Given the description of an element on the screen output the (x, y) to click on. 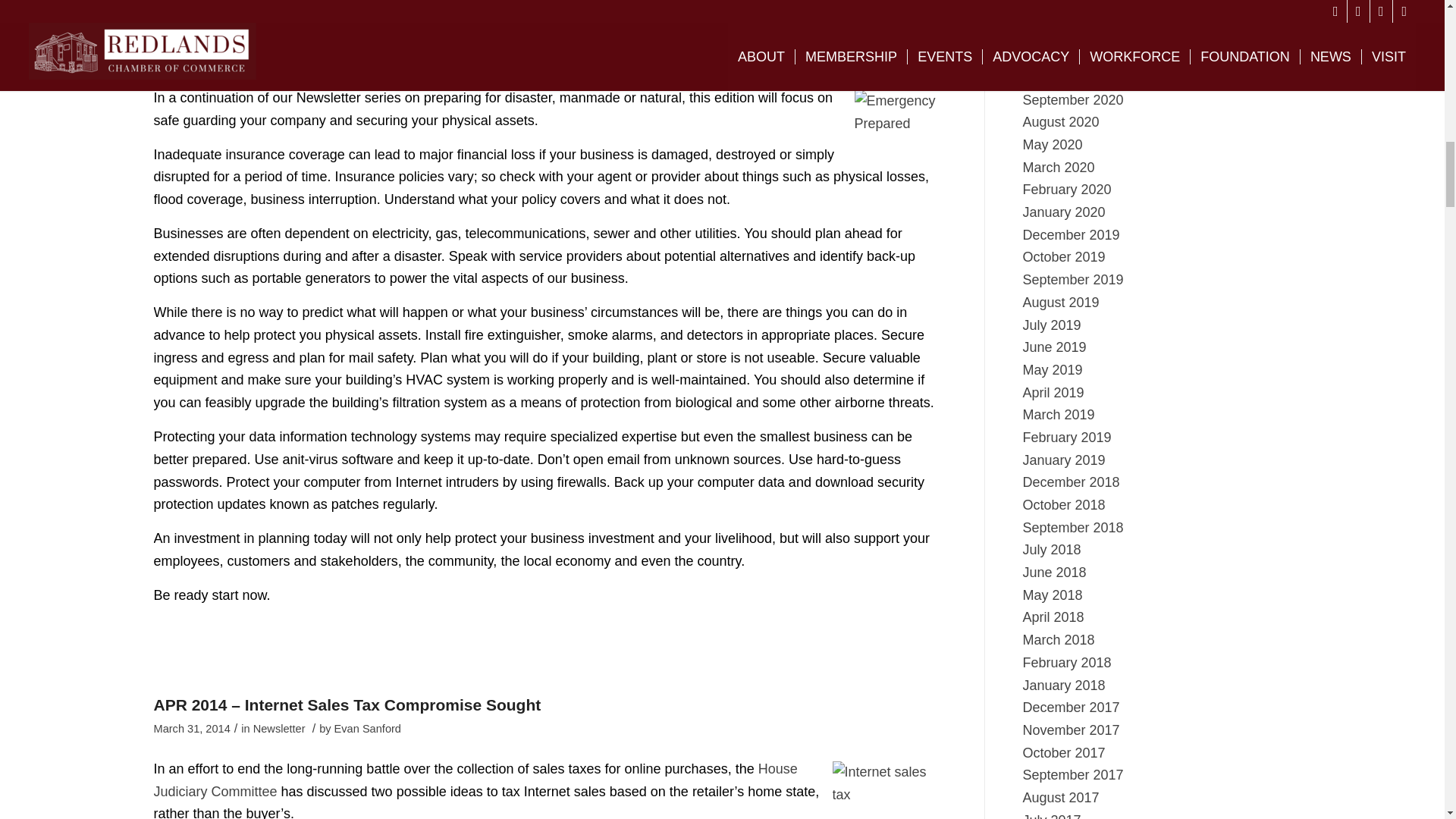
U.S. House Committee on the Judiciary (474, 780)
Posts by Evan Sanford (367, 728)
Posts by Evan Sanford (367, 57)
